Given the description of an element on the screen output the (x, y) to click on. 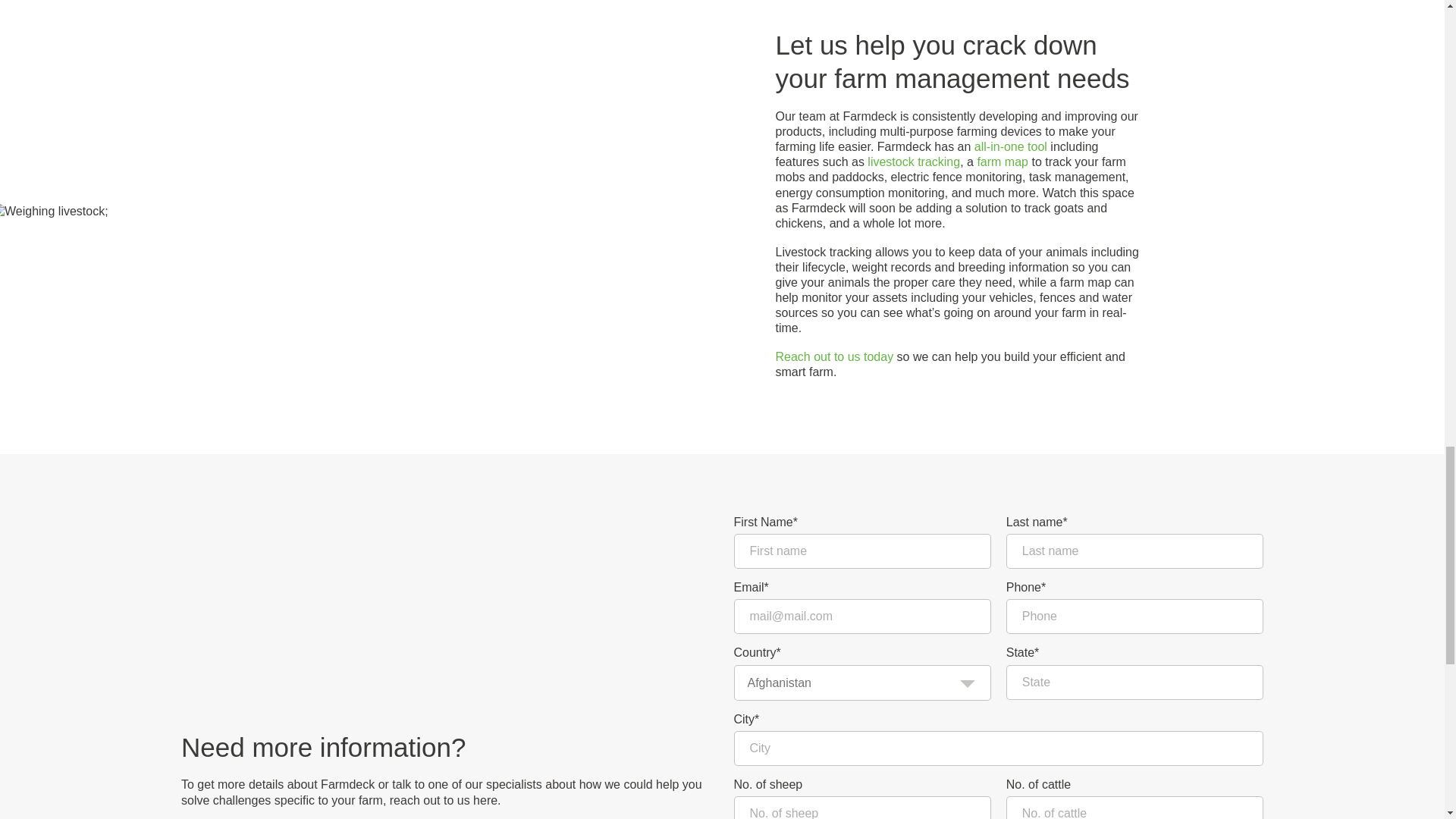
farm map (1001, 161)
Reach out to us today (833, 356)
livestock tracking (913, 161)
all-in-one tool (1010, 146)
